Given the description of an element on the screen output the (x, y) to click on. 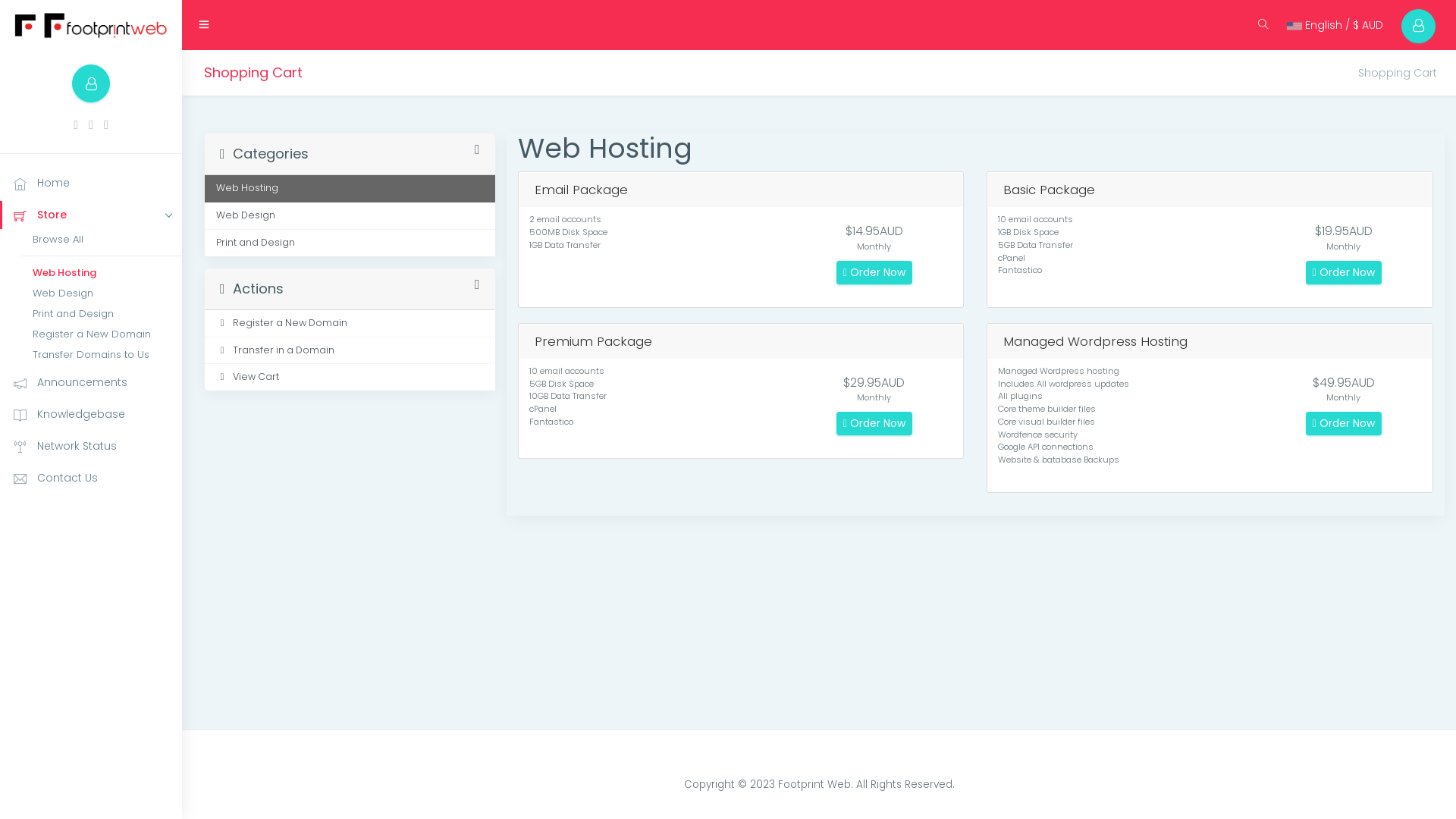
Web Design Element type: text (349, 215)
Browse All Element type: text (101, 239)
Home Element type: text (91, 183)
  View Cart Element type: text (349, 377)
  Register a New Domain Element type: text (349, 323)
Order Now Element type: text (1343, 272)
Web Hosting Element type: text (101, 272)
  Transfer in a Domain Element type: text (349, 350)
Contact Us Element type: text (91, 478)
Register a New Domain Element type: text (101, 333)
Network Status Element type: text (91, 446)
English / $ AUD Element type: text (1334, 24)
Web Design Element type: text (101, 292)
Print and Design Element type: text (101, 313)
Store Element type: text (91, 214)
Web Hosting Element type: text (349, 188)
Announcements Element type: text (91, 382)
Print and Design Element type: text (349, 242)
Knowledgebase Element type: text (91, 414)
Order Now Element type: text (874, 423)
Order Now Element type: text (874, 272)
Order Now Element type: text (1343, 423)
Transfer Domains to Us Element type: text (101, 354)
